Given the description of an element on the screen output the (x, y) to click on. 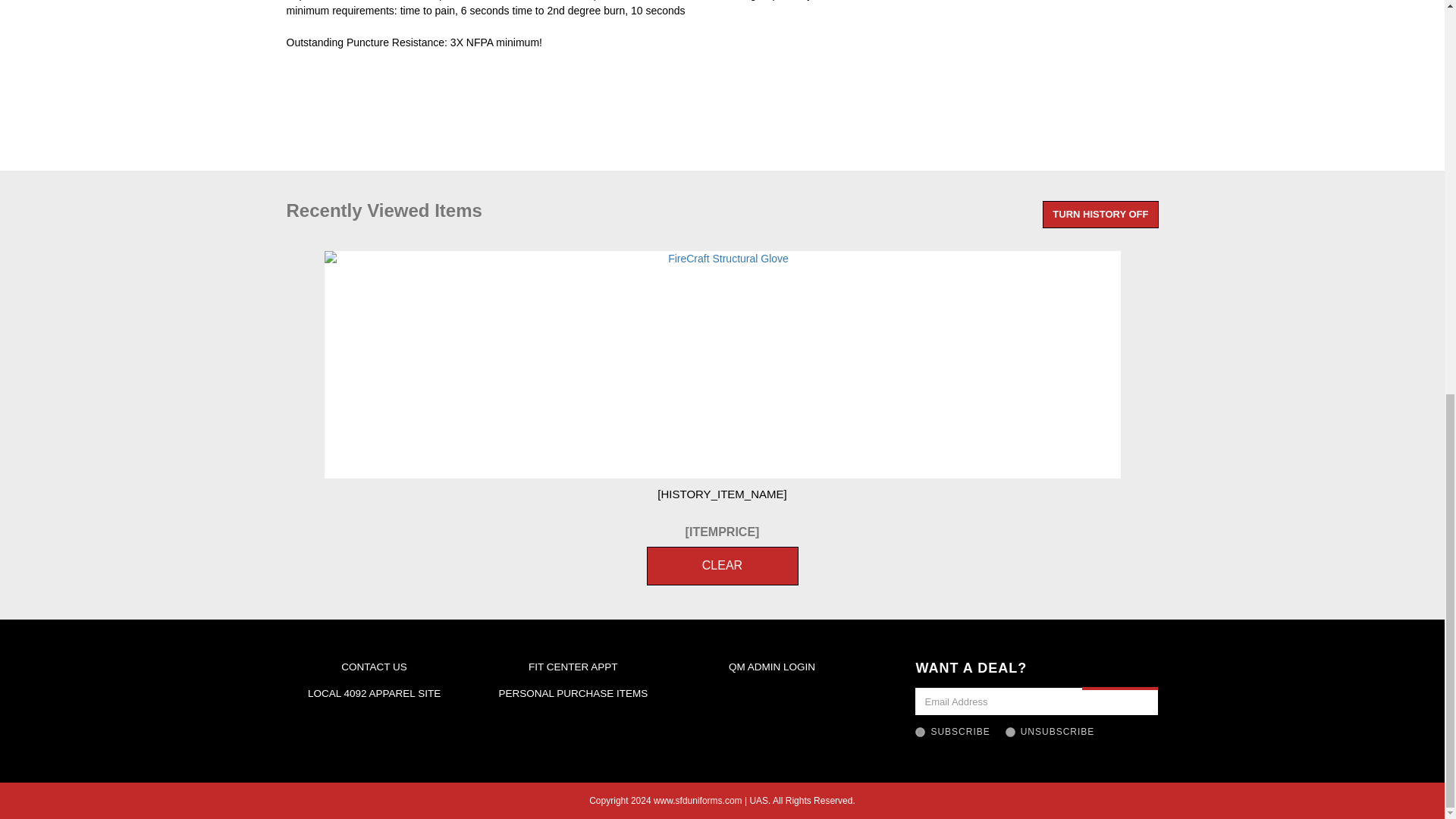
TURN HISTORY OFF (1099, 214)
0 (1010, 732)
1 (919, 732)
